Given the description of an element on the screen output the (x, y) to click on. 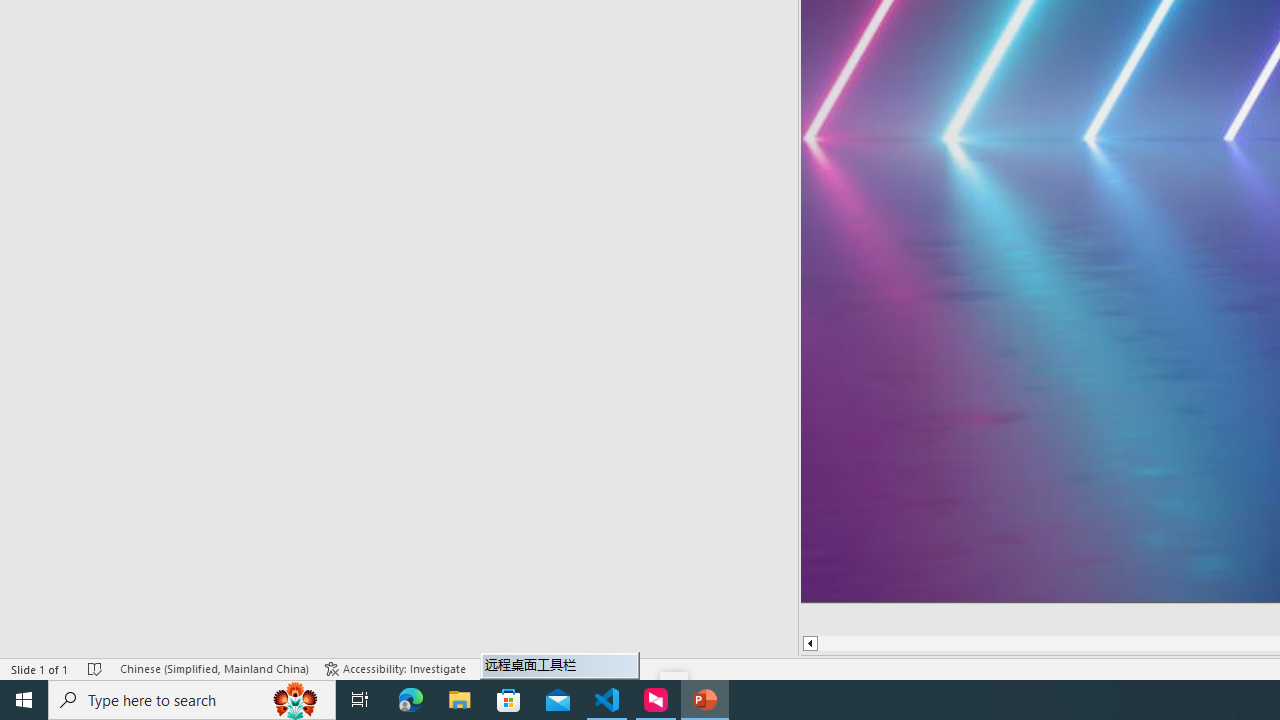
Accessibility Checker Accessibility: Investigate (395, 668)
Spell Check No Errors (95, 668)
